Given the description of an element on the screen output the (x, y) to click on. 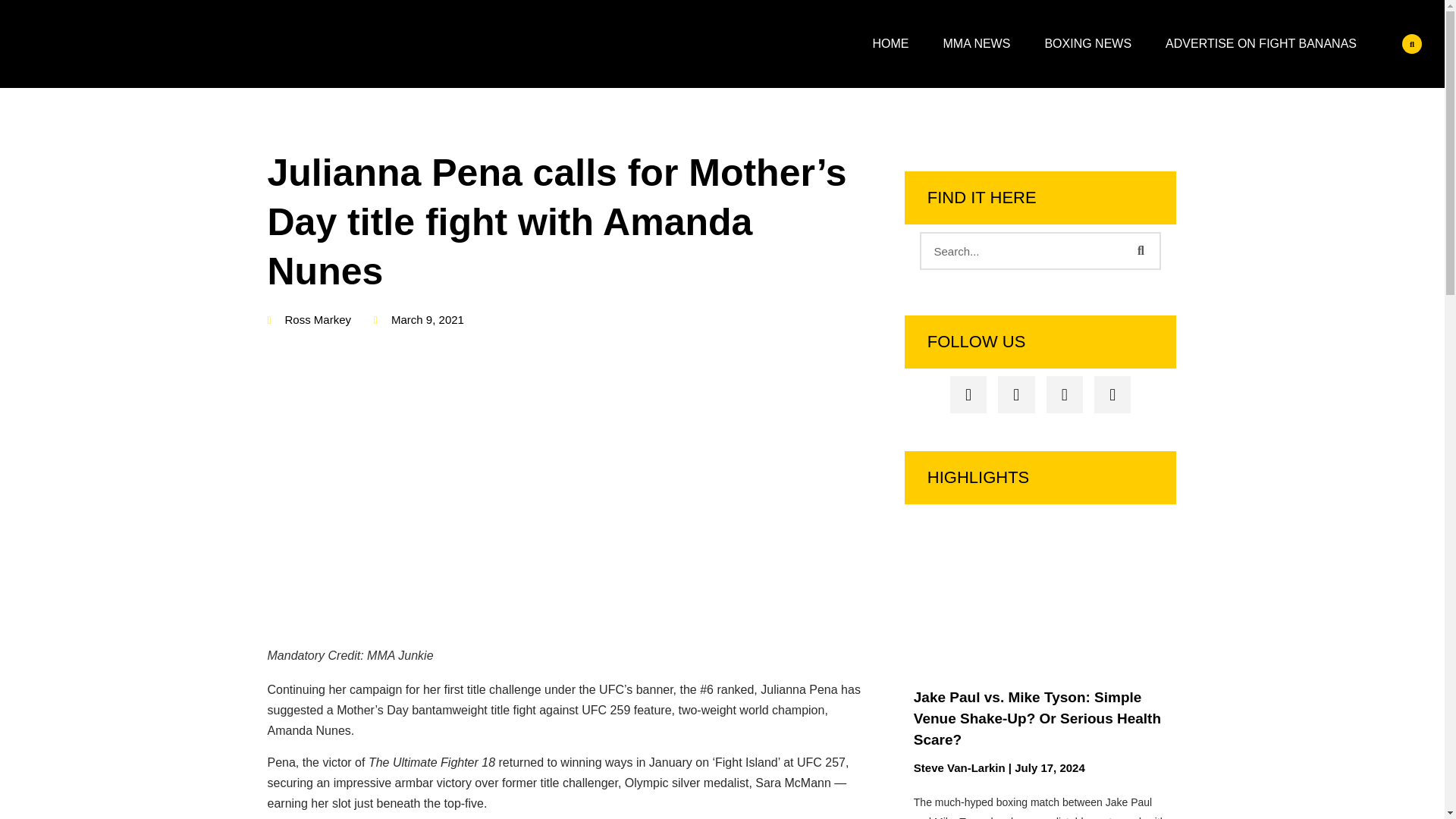
Search (1139, 250)
BOXING NEWS (1088, 43)
Ross Markey (308, 320)
MMA NEWS (977, 43)
March 9, 2021 (419, 320)
Search (1021, 250)
HOME (890, 43)
ADVERTISE ON FIGHT BANANAS (1260, 43)
